Given the description of an element on the screen output the (x, y) to click on. 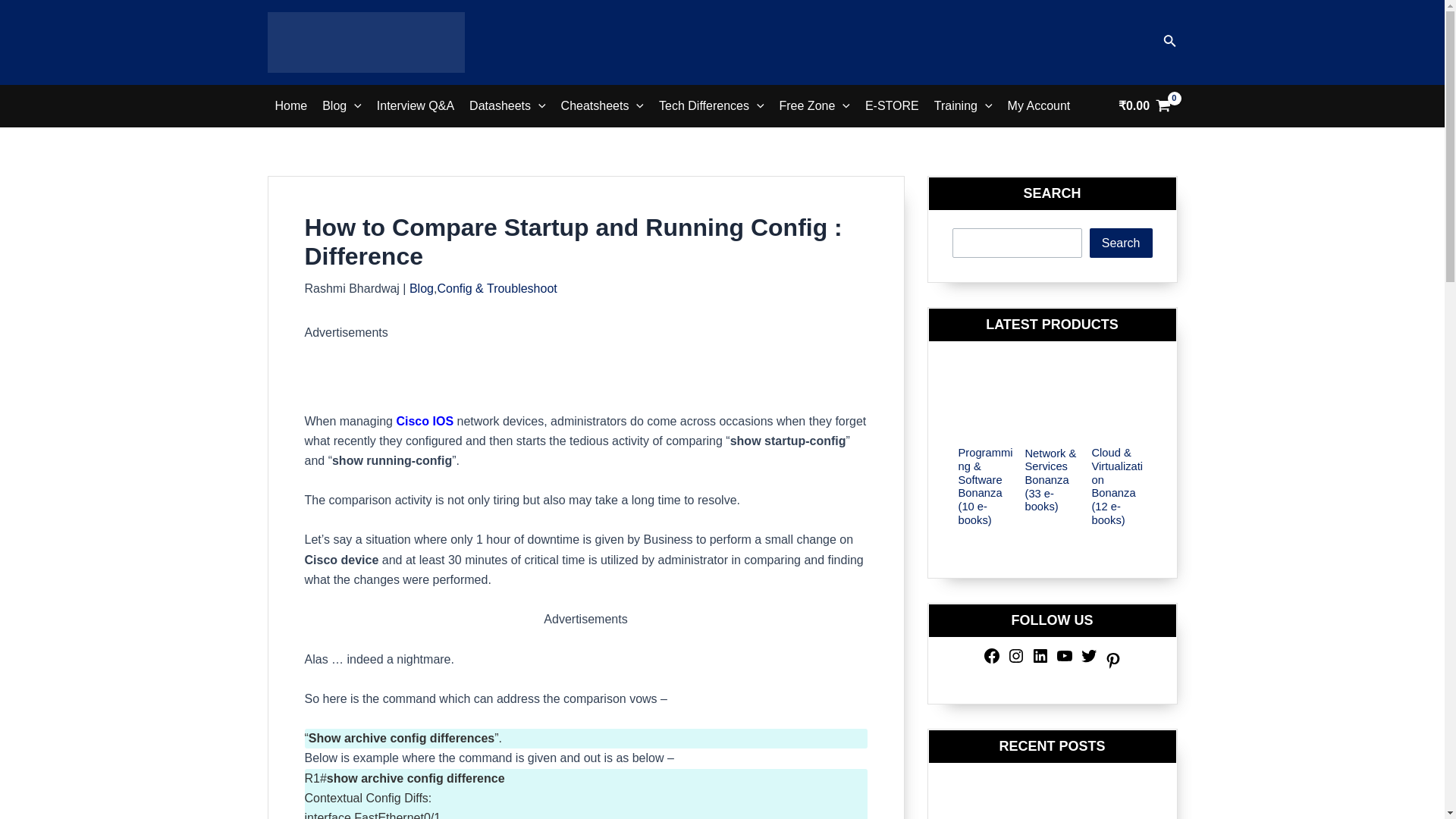
Home (290, 105)
Blog (341, 105)
Datasheets (507, 105)
